Given the description of an element on the screen output the (x, y) to click on. 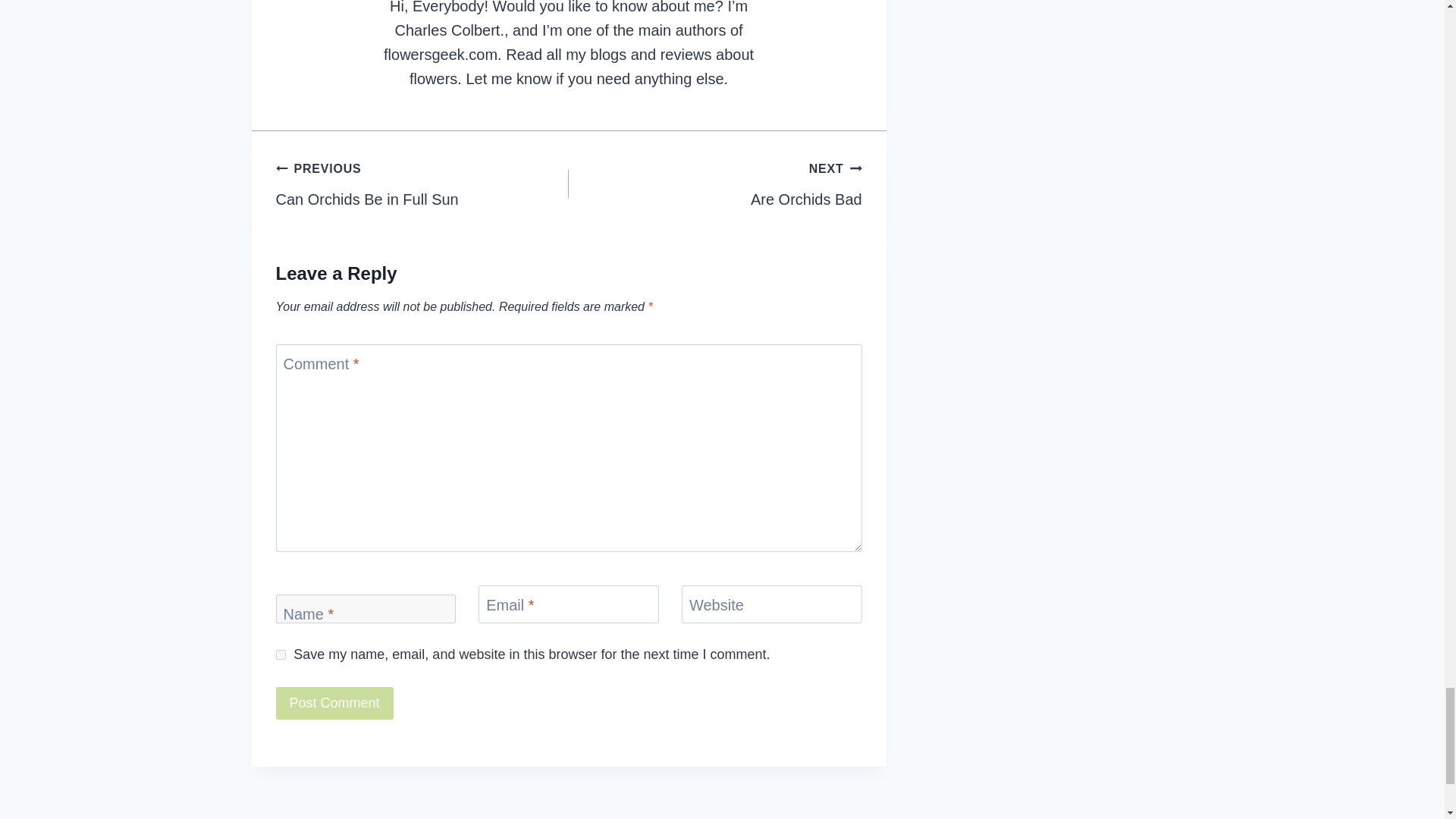
yes (280, 655)
Post Comment (422, 183)
Post Comment (334, 703)
